Given the description of an element on the screen output the (x, y) to click on. 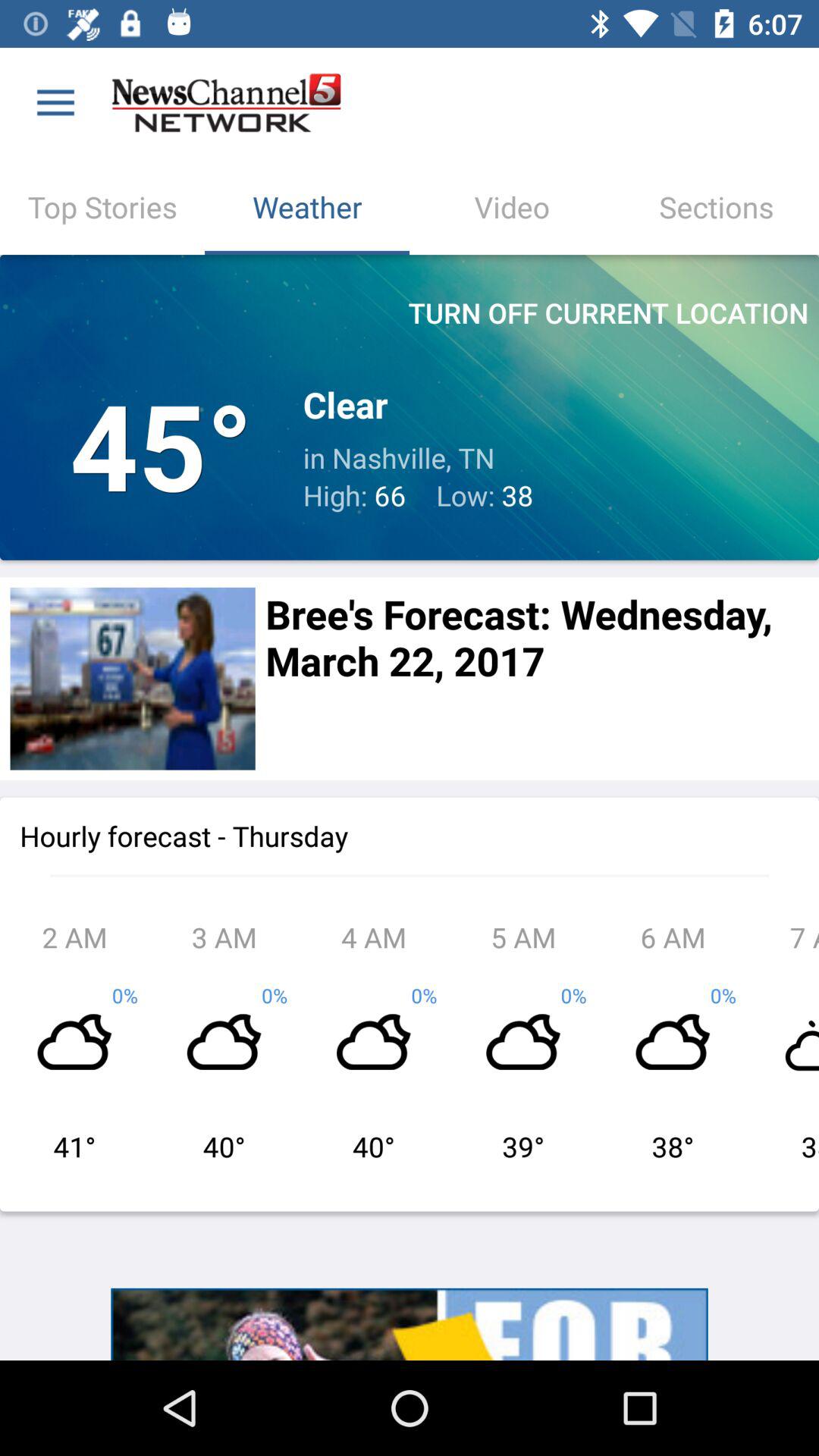
click on advertisement to external site (409, 1324)
